Given the description of an element on the screen output the (x, y) to click on. 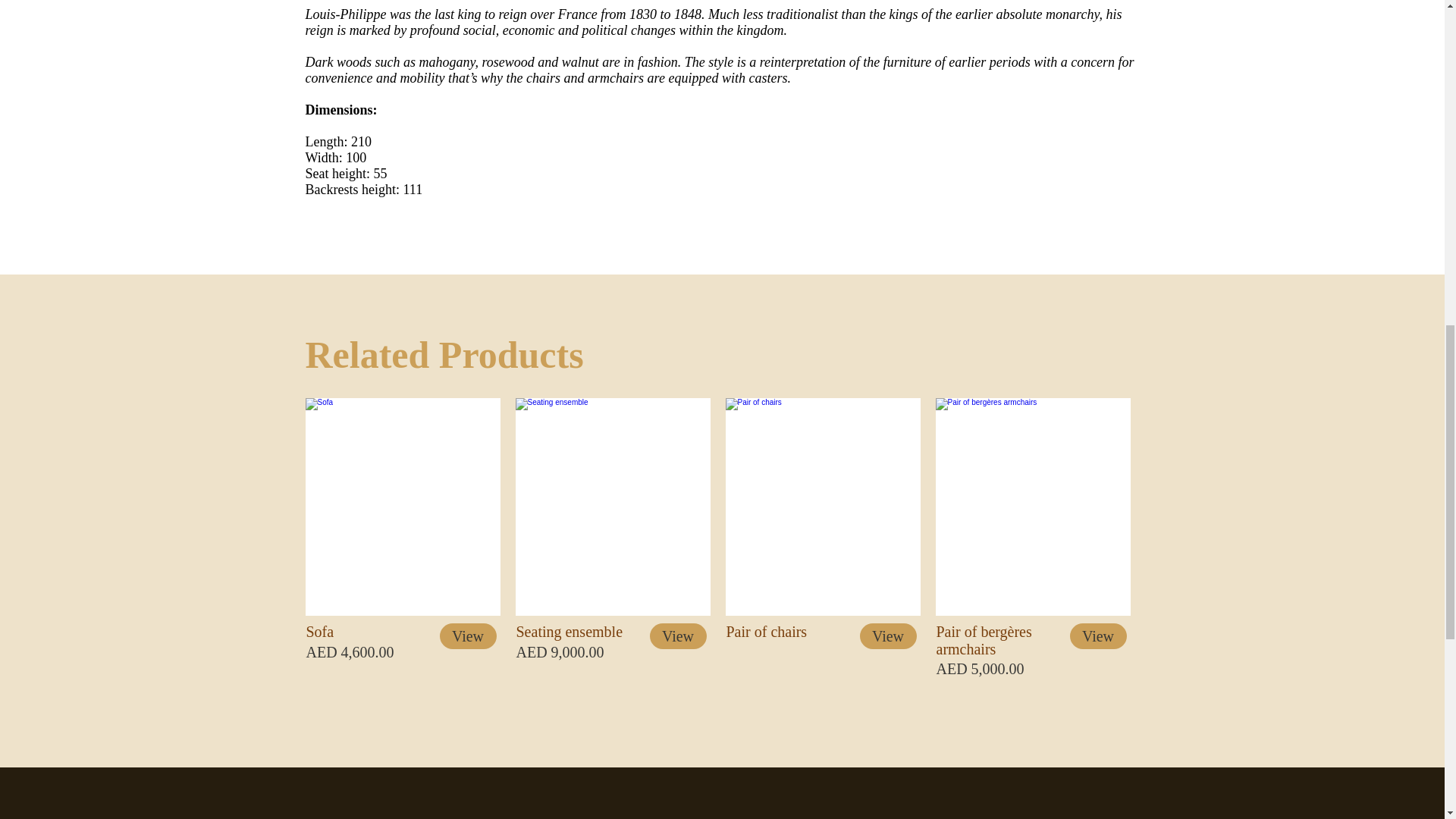
Seating ensemble (612, 506)
View (677, 636)
View (467, 636)
View (1096, 636)
Sofa (401, 506)
Pair of chairs (822, 506)
View (888, 636)
